Given the description of an element on the screen output the (x, y) to click on. 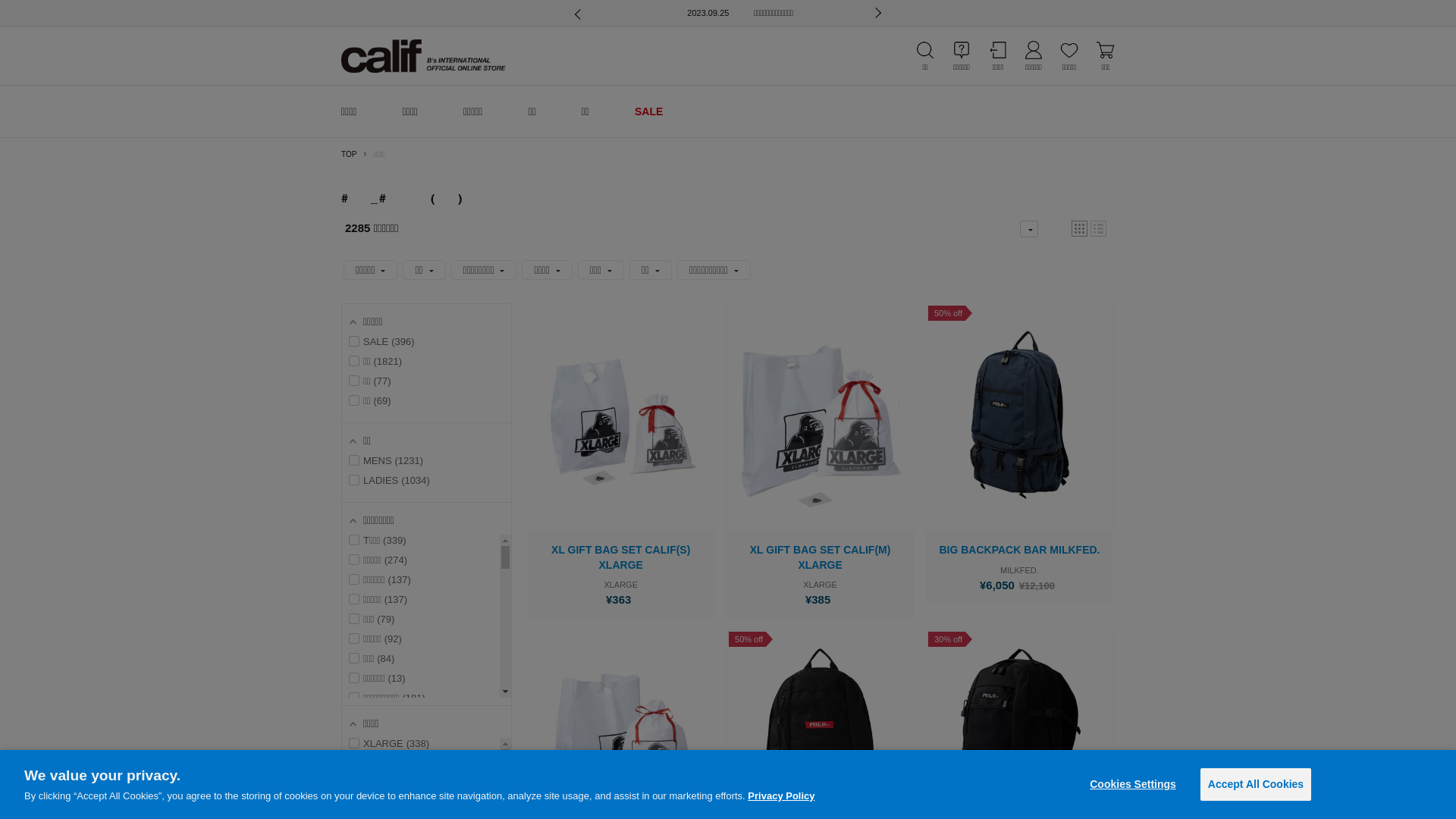
TOP Element type: text (348, 153)
SALE Element type: text (648, 111)
Previous Element type: text (579, 17)
